Given the description of an element on the screen output the (x, y) to click on. 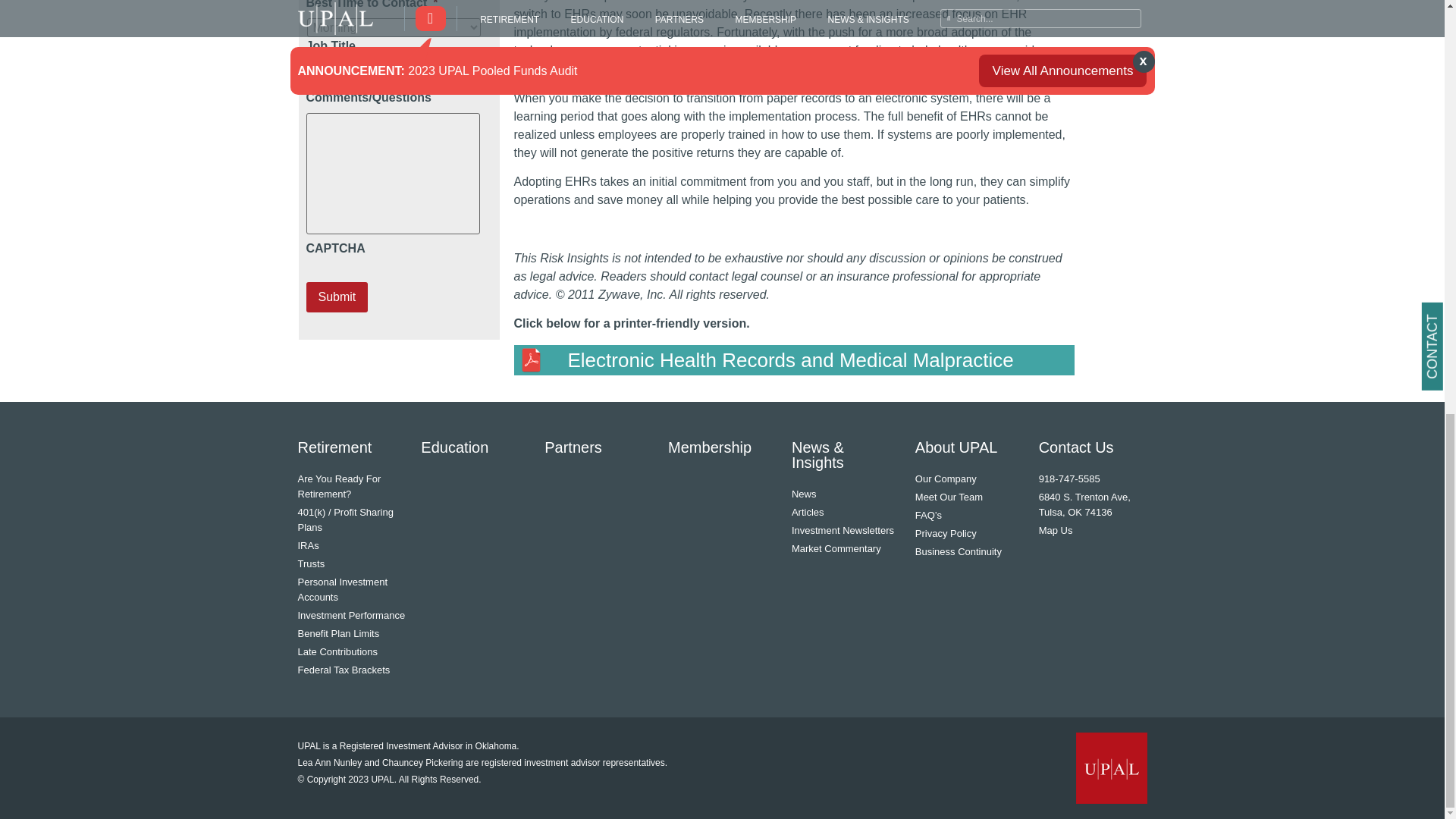
Submit (336, 296)
